Given the description of an element on the screen output the (x, y) to click on. 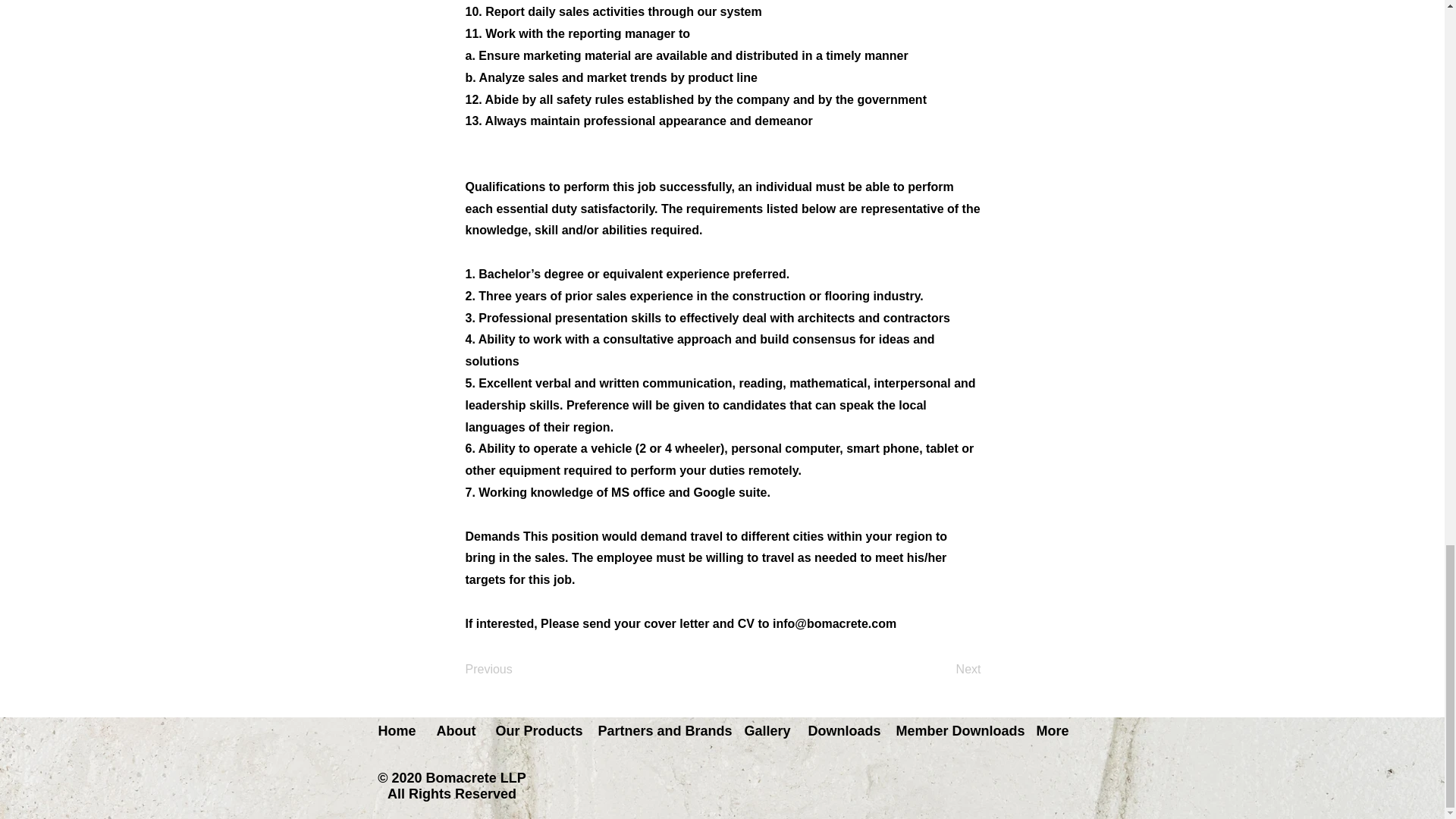
Our Products (534, 730)
Gallery (764, 730)
Partners and Brands (659, 730)
Home (395, 730)
About (454, 730)
Previous (515, 670)
Next (943, 670)
